Given the description of an element on the screen output the (x, y) to click on. 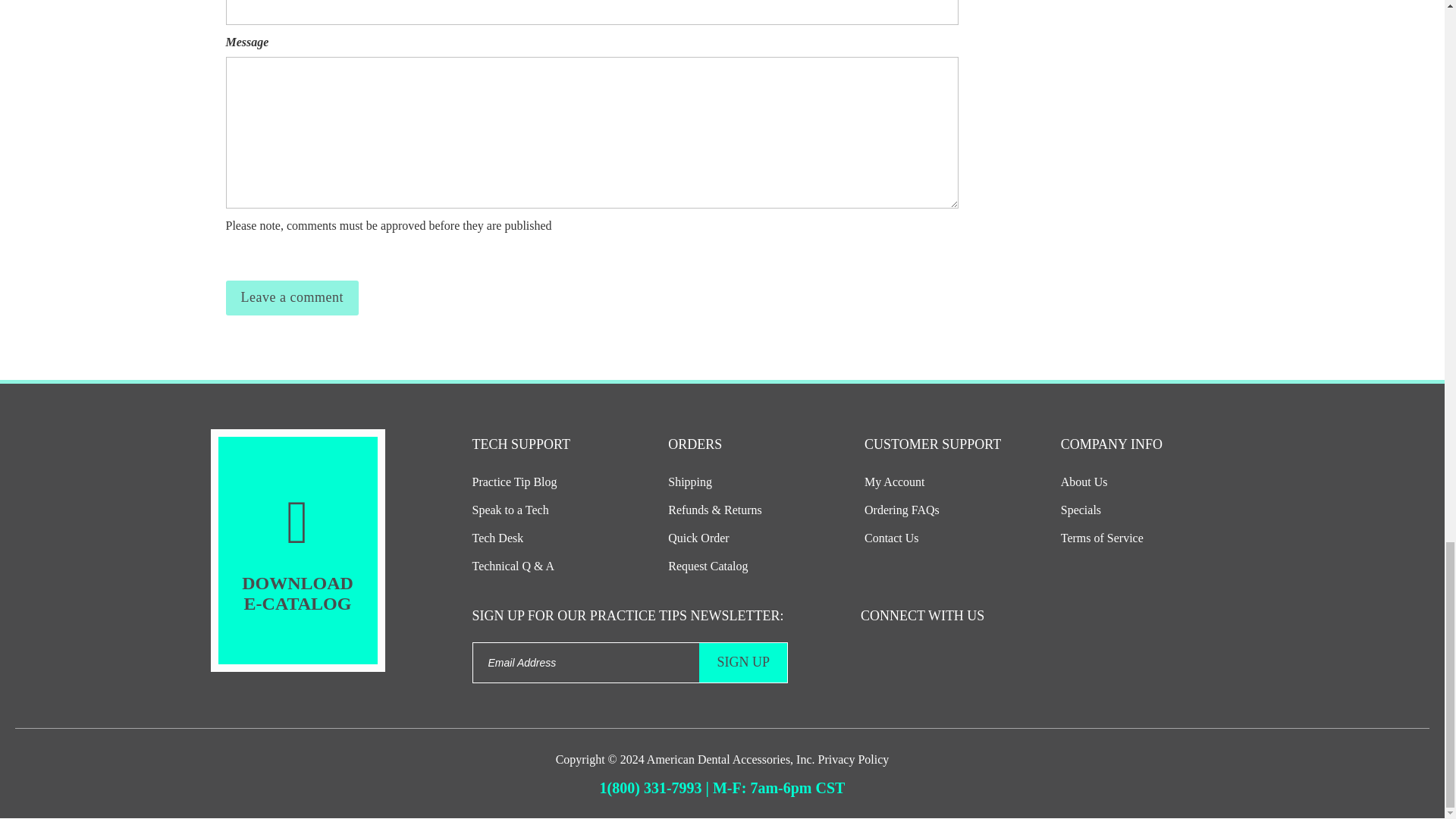
Leave a comment (291, 297)
